Given the description of an element on the screen output the (x, y) to click on. 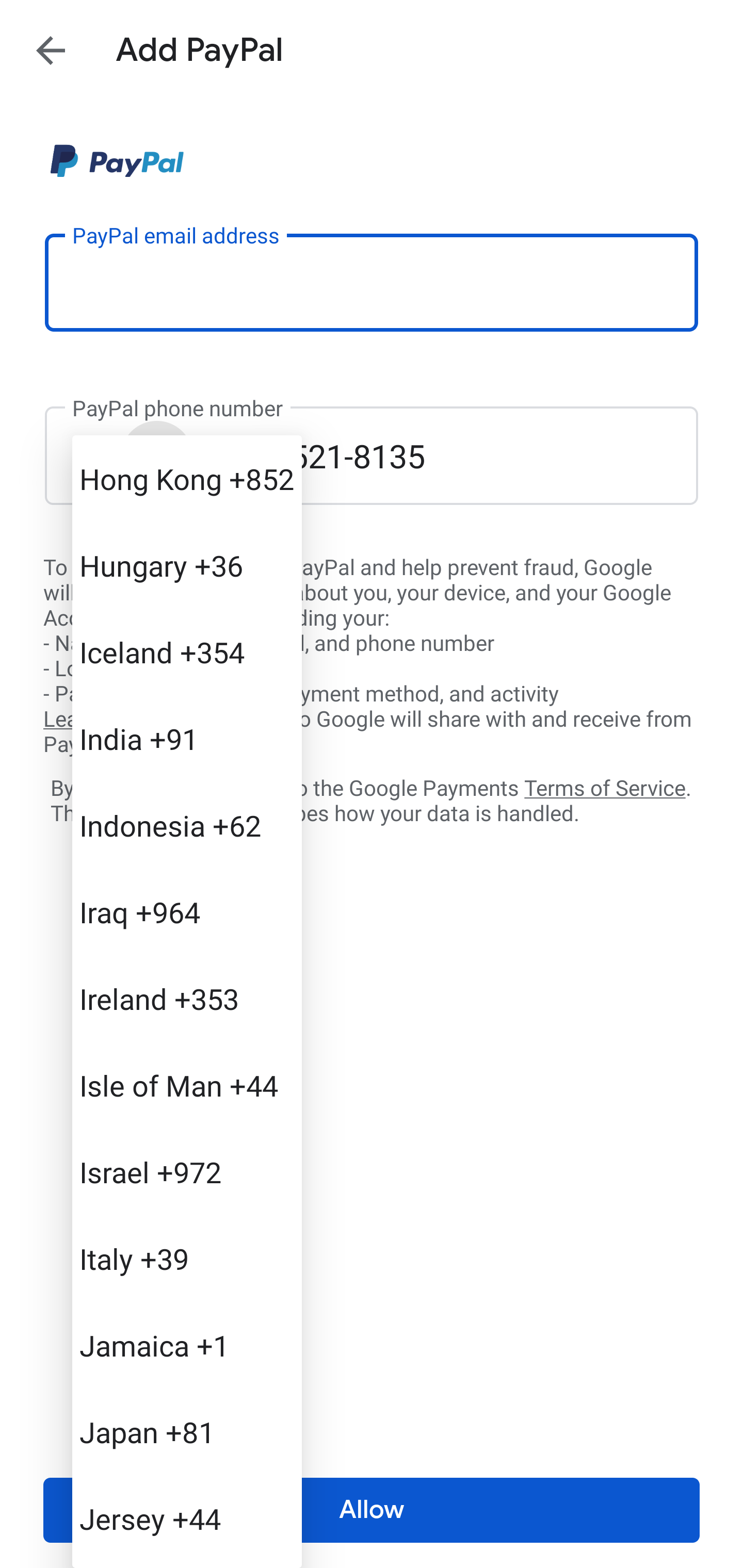
Hong Kong +852 (186, 478)
Hungary +36 (186, 565)
Iceland +354 (186, 651)
India +91 (186, 738)
Indonesia +62 (186, 825)
Iraq +964 (186, 911)
Ireland +353 (186, 997)
Isle of Man +44 (186, 1084)
Israel +972 (186, 1171)
Italy +39 (186, 1258)
Jamaica +1 (186, 1345)
Japan +81 (186, 1432)
Jersey +44 (186, 1518)
